Given the description of an element on the screen output the (x, y) to click on. 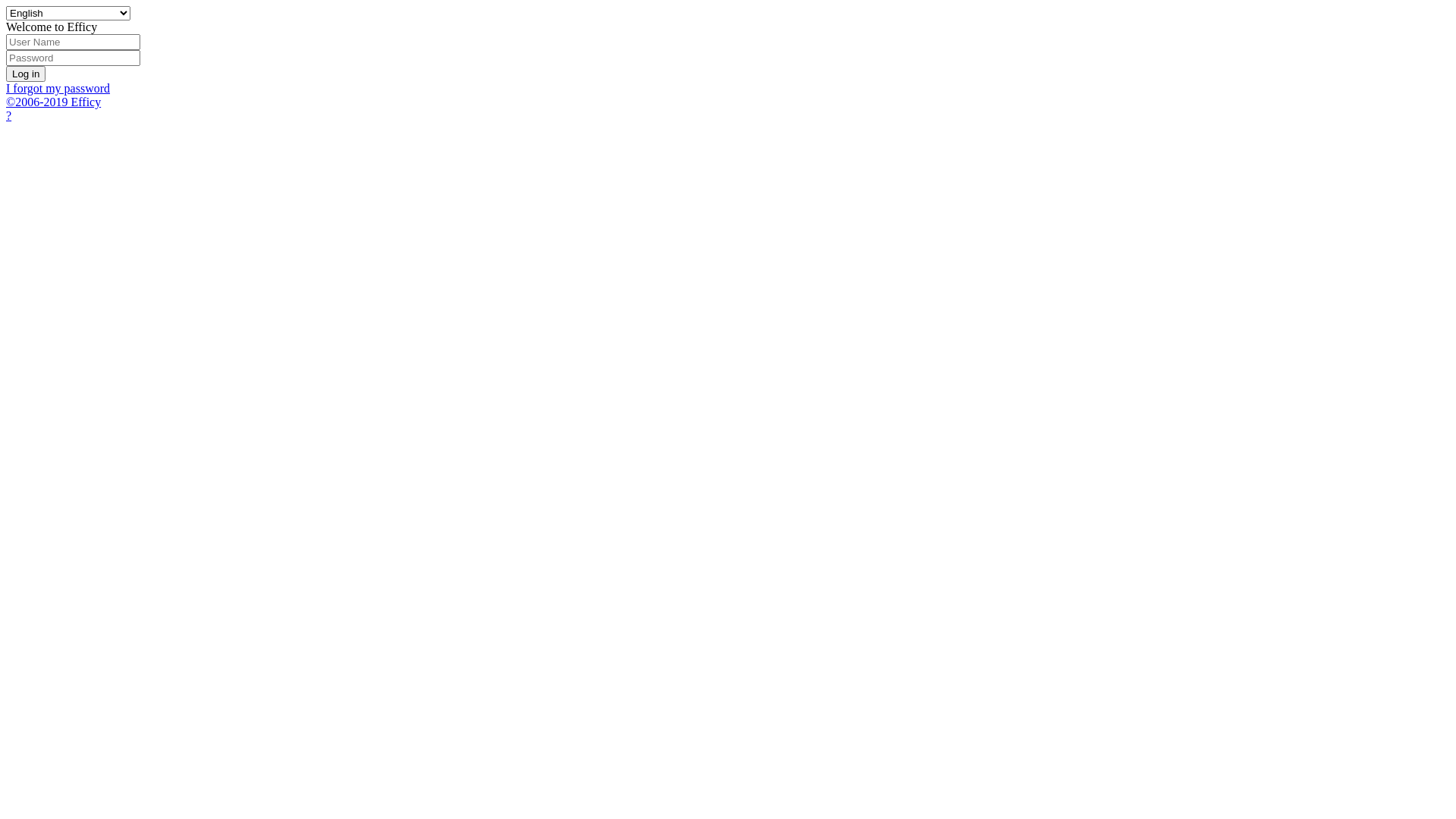
? Element type: text (8, 115)
I forgot my password Element type: text (57, 87)
Log in Element type: text (25, 73)
